Given the description of an element on the screen output the (x, y) to click on. 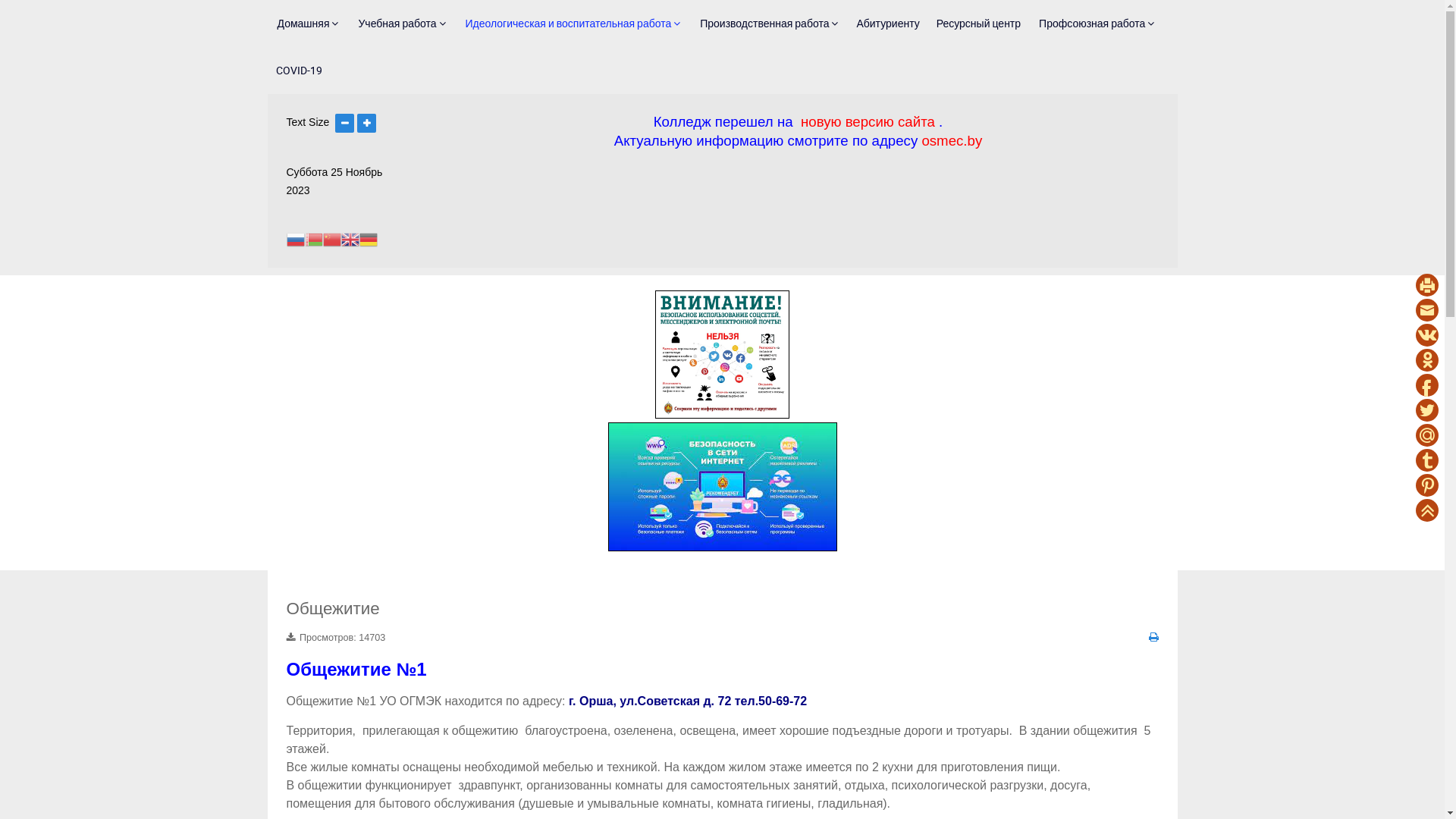
English Element type: hover (350, 238)
COVID-19 Element type: text (298, 70)
Deutsch Element type: hover (368, 238)
osmec.by Element type: text (951, 140)
Decrease Font Size Element type: hover (344, 122)
Increase Font Size Element type: hover (366, 122)
